Given the description of an element on the screen output the (x, y) to click on. 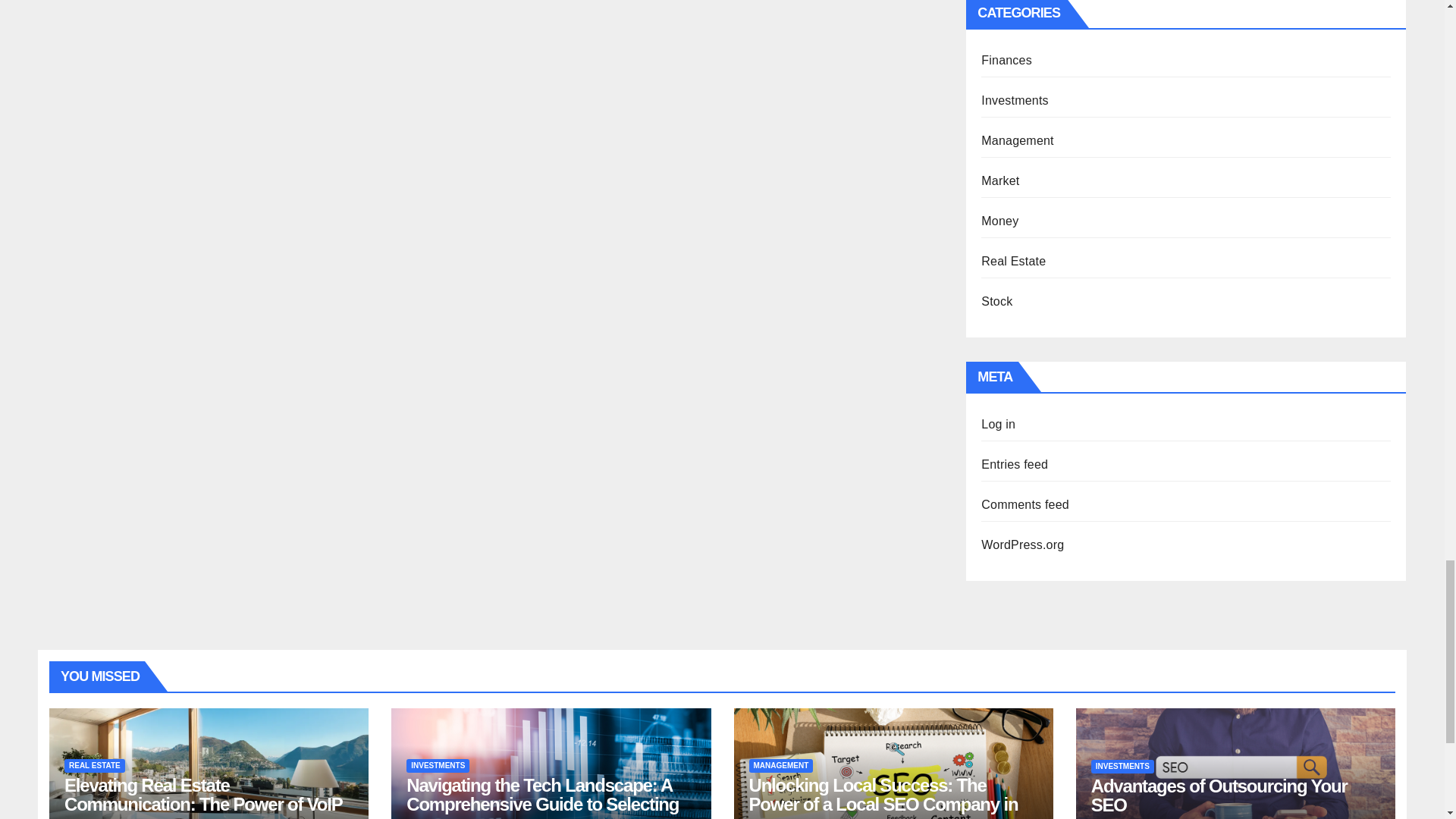
Permalink to: Advantages of Outsourcing Your SEO (1219, 794)
